Given the description of an element on the screen output the (x, y) to click on. 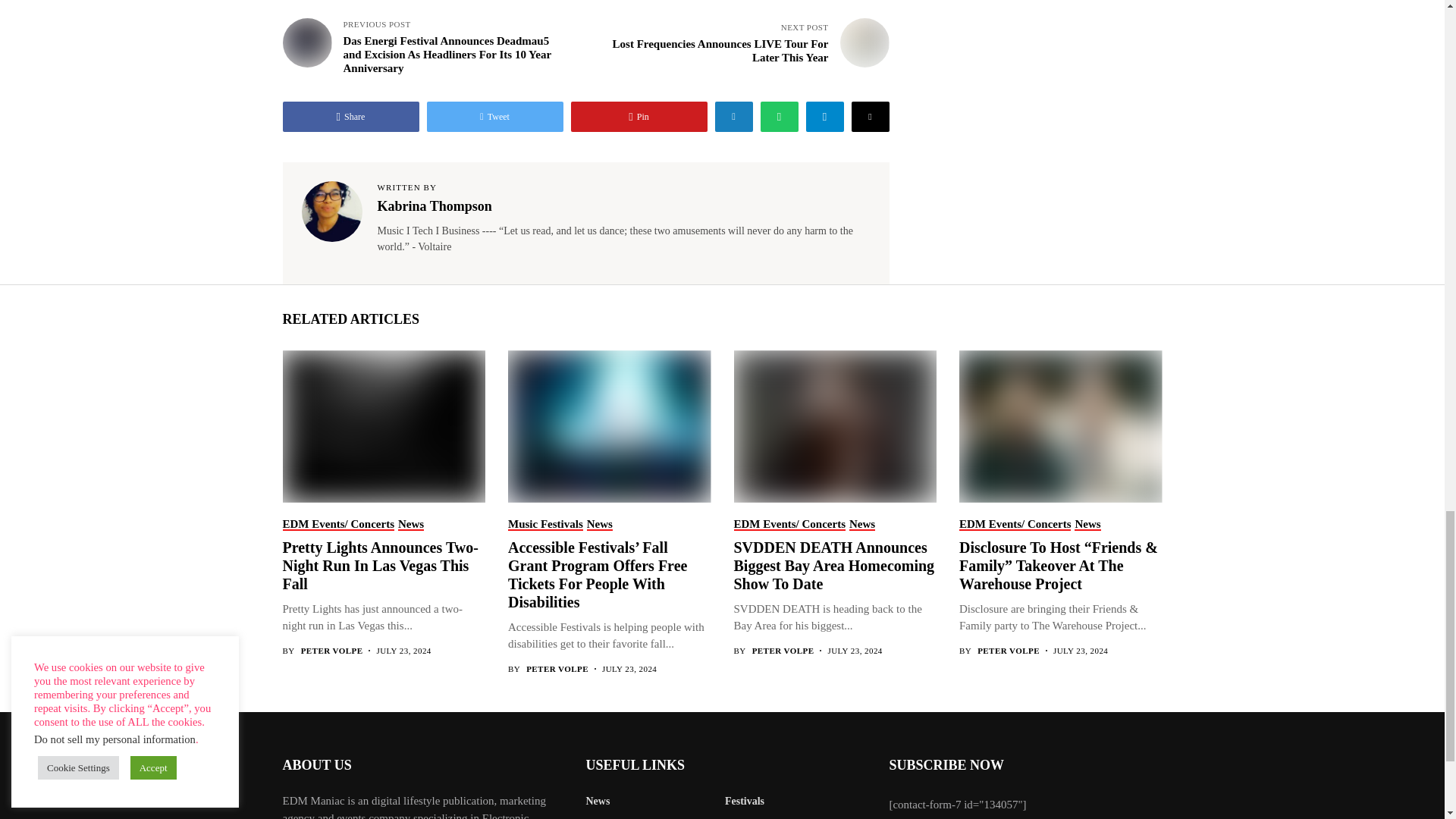
Posts by Peter Volpe (1007, 651)
Posts by Peter Volpe (556, 669)
Posts by Peter Volpe (331, 651)
Posts by Peter Volpe (782, 651)
